Given the description of an element on the screen output the (x, y) to click on. 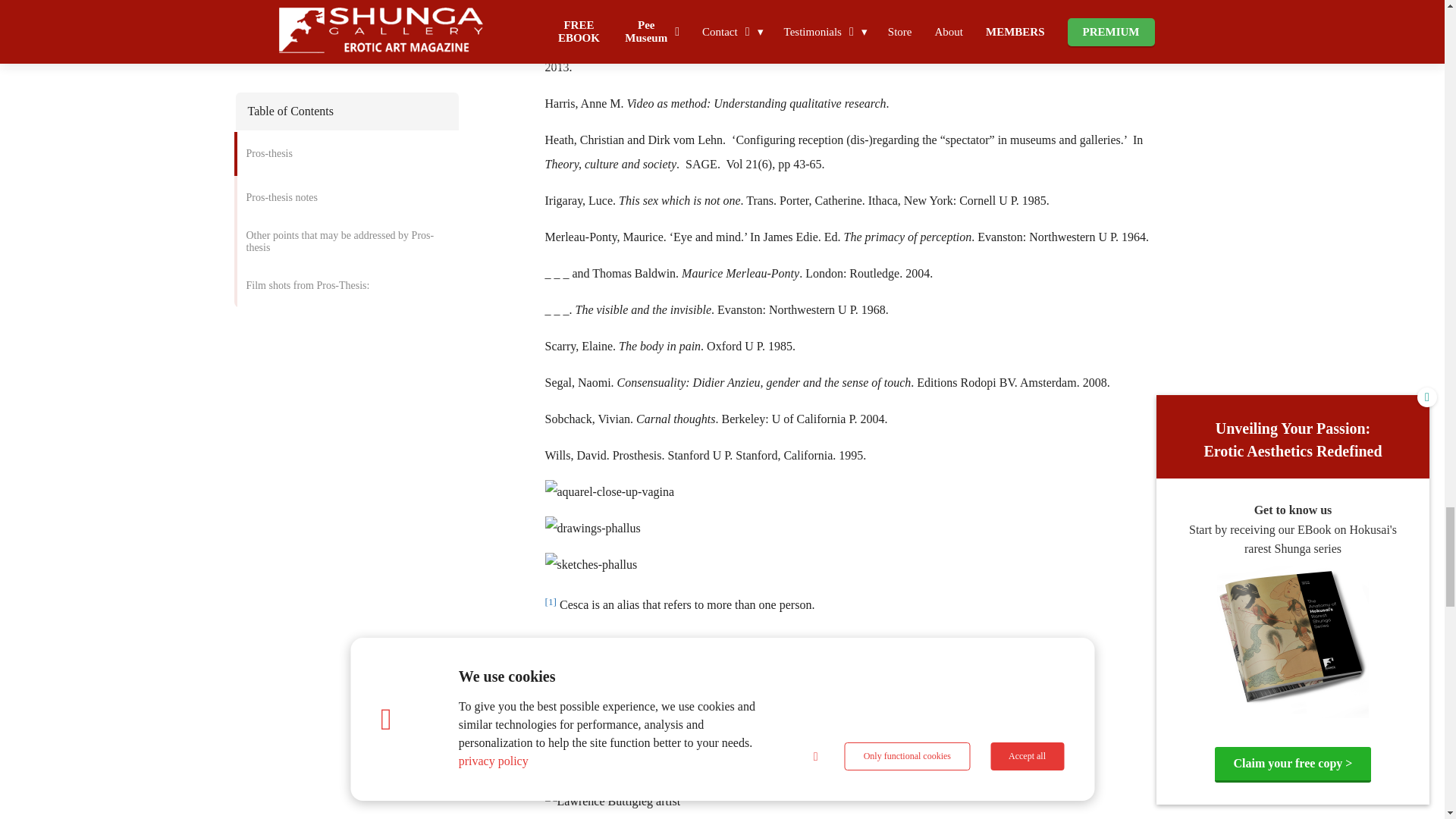
aquarel-close-up-vagina (609, 491)
sketches-phallus (590, 564)
Lawrence Buttigieg painting (619, 764)
Lawrence Buttigieg artist (611, 801)
Lawrence Buttigieg art (606, 728)
drawings-phallus (592, 528)
